Given the description of an element on the screen output the (x, y) to click on. 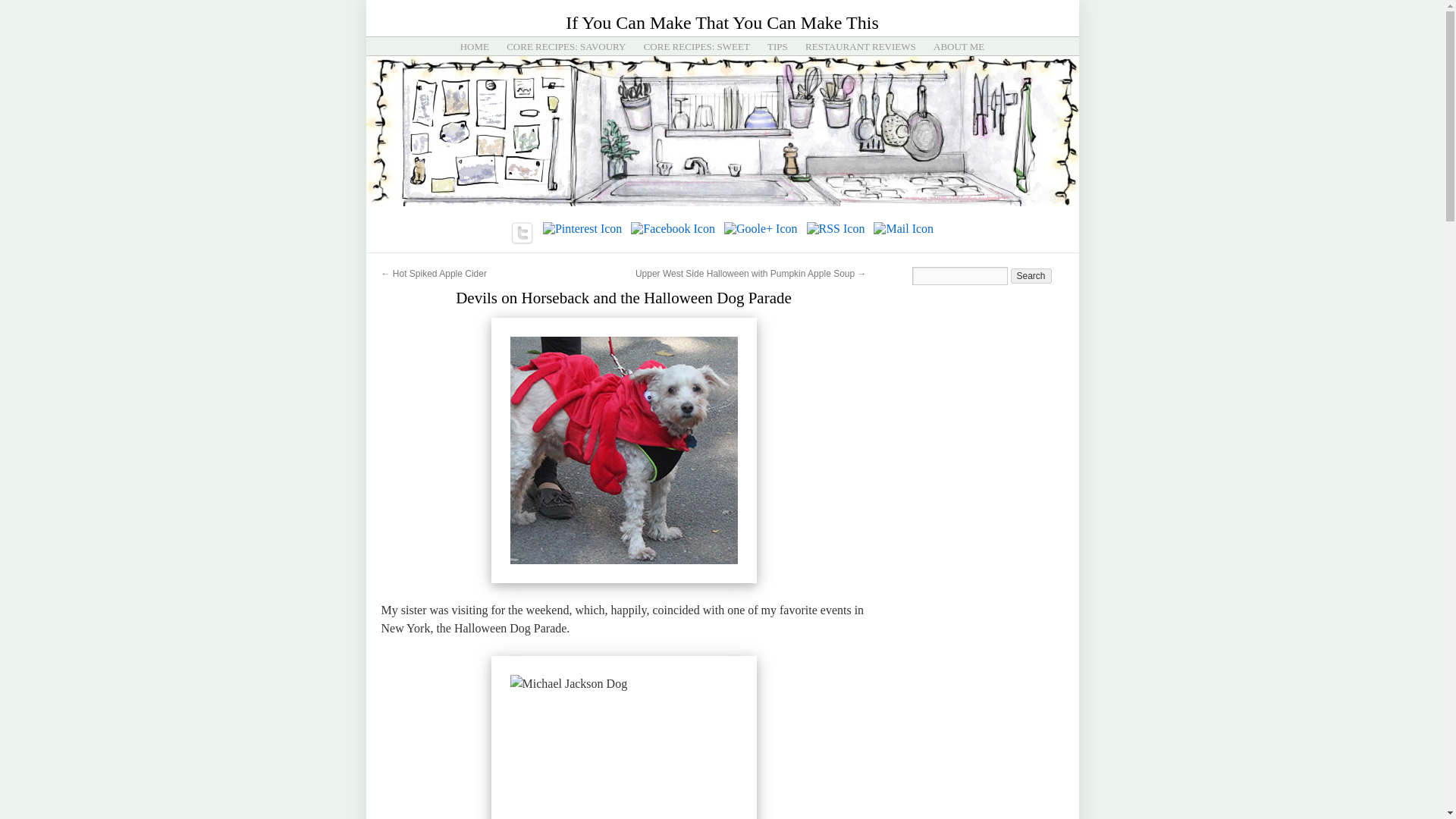
CORE RECIPES: SAVOURY (566, 46)
If You Can Make That You Can Make This (721, 22)
Search (1030, 275)
Subscribe to RSS Feed (836, 229)
Follow on Facebook (672, 229)
If You Can Make That You Can Make This (721, 22)
ABOUT ME (958, 46)
Follow on Pinterest (582, 229)
Follow on Facebook (672, 228)
CORE RECIPES: SWEET (696, 46)
